Given the description of an element on the screen output the (x, y) to click on. 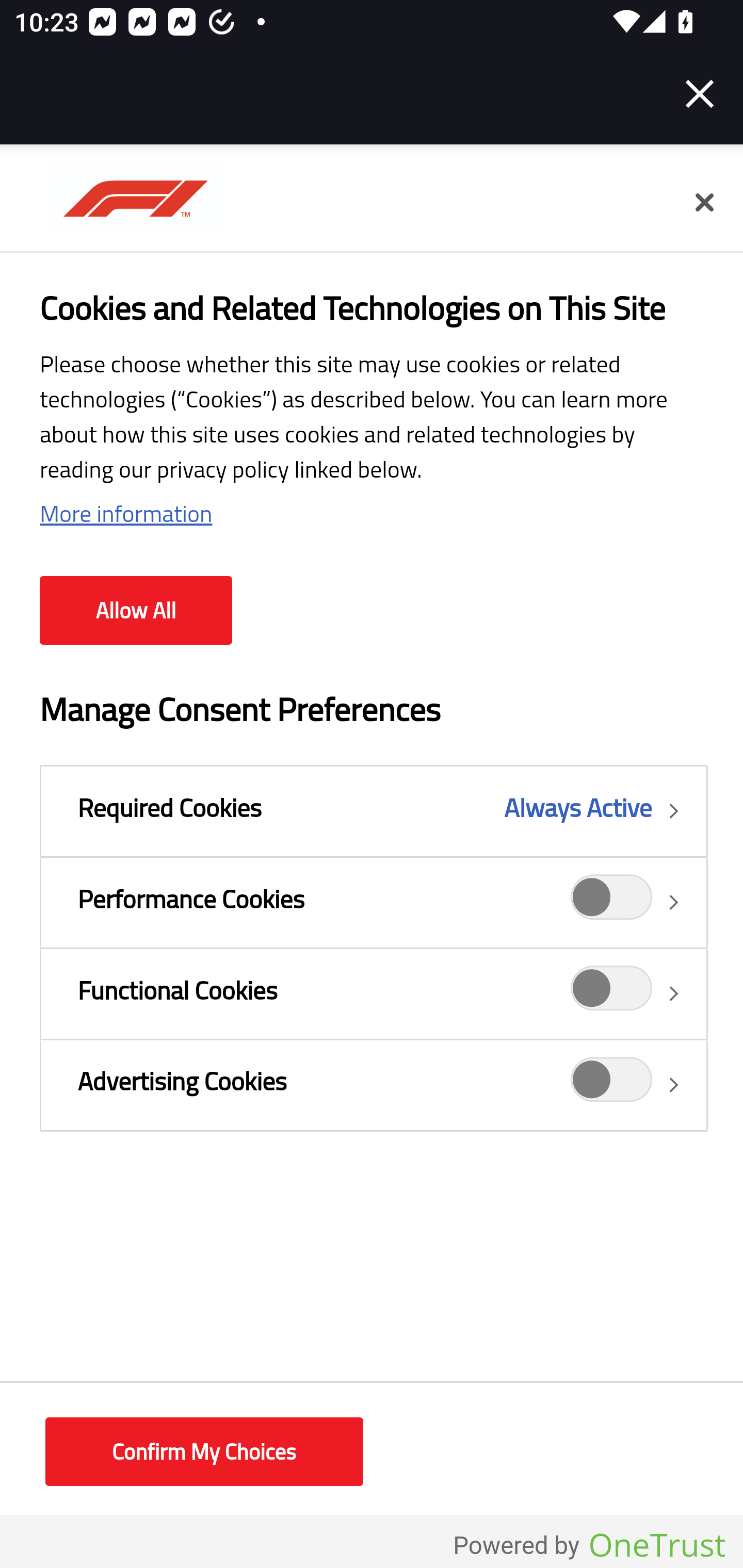
Close (699, 93)
Close (703, 203)
Allow All (135, 610)
Required Cookies (373, 811)
Performance Cookies (373, 902)
Performance Cookies (611, 902)
Functional Cookies (373, 993)
Functional Cookies (611, 993)
Advertising Cookies (373, 1084)
Advertising Cookies (611, 1084)
Confirm My Choices (203, 1452)
Powered by OneTrust Opens in a new Tab (589, 1546)
